Given the description of an element on the screen output the (x, y) to click on. 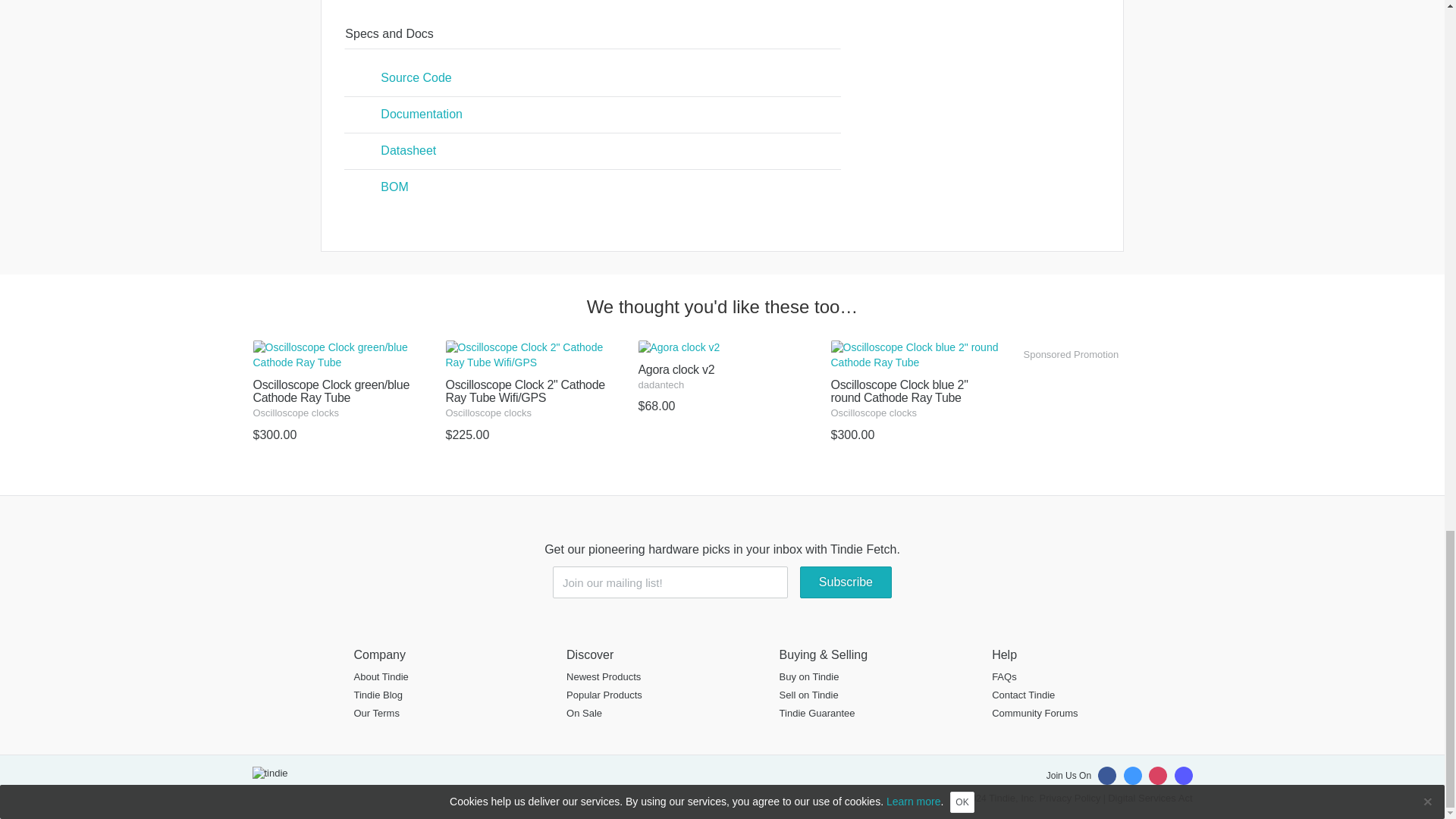
Follow us on Mastodon (1182, 775)
Follow us on Instagram (1157, 775)
Follow us on Twitter (1132, 775)
Open Source Code Link (591, 78)
Follow us on Facebook (1106, 775)
Subscribe (845, 582)
Open Documentation Link (591, 114)
Oscilloscope Clock blue 2" round Cathode Ray Tube (914, 400)
Download Bill of Materials (591, 187)
Download Datasheet (591, 150)
